Given the description of an element on the screen output the (x, y) to click on. 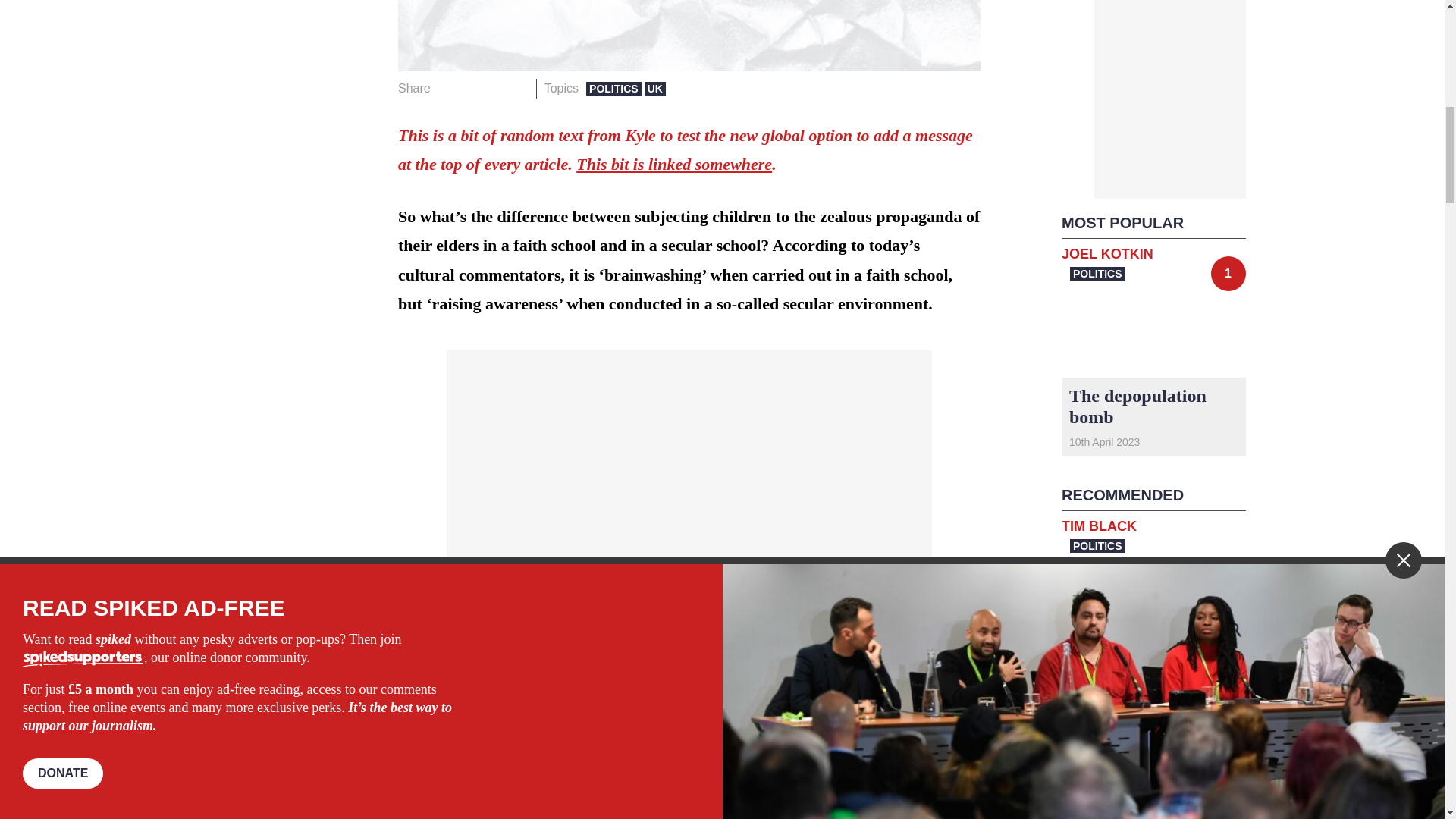
Share on Twitter (471, 88)
Share on Whatsapp (494, 88)
Share on Facebook (448, 88)
Share on Email (518, 88)
